Given the description of an element on the screen output the (x, y) to click on. 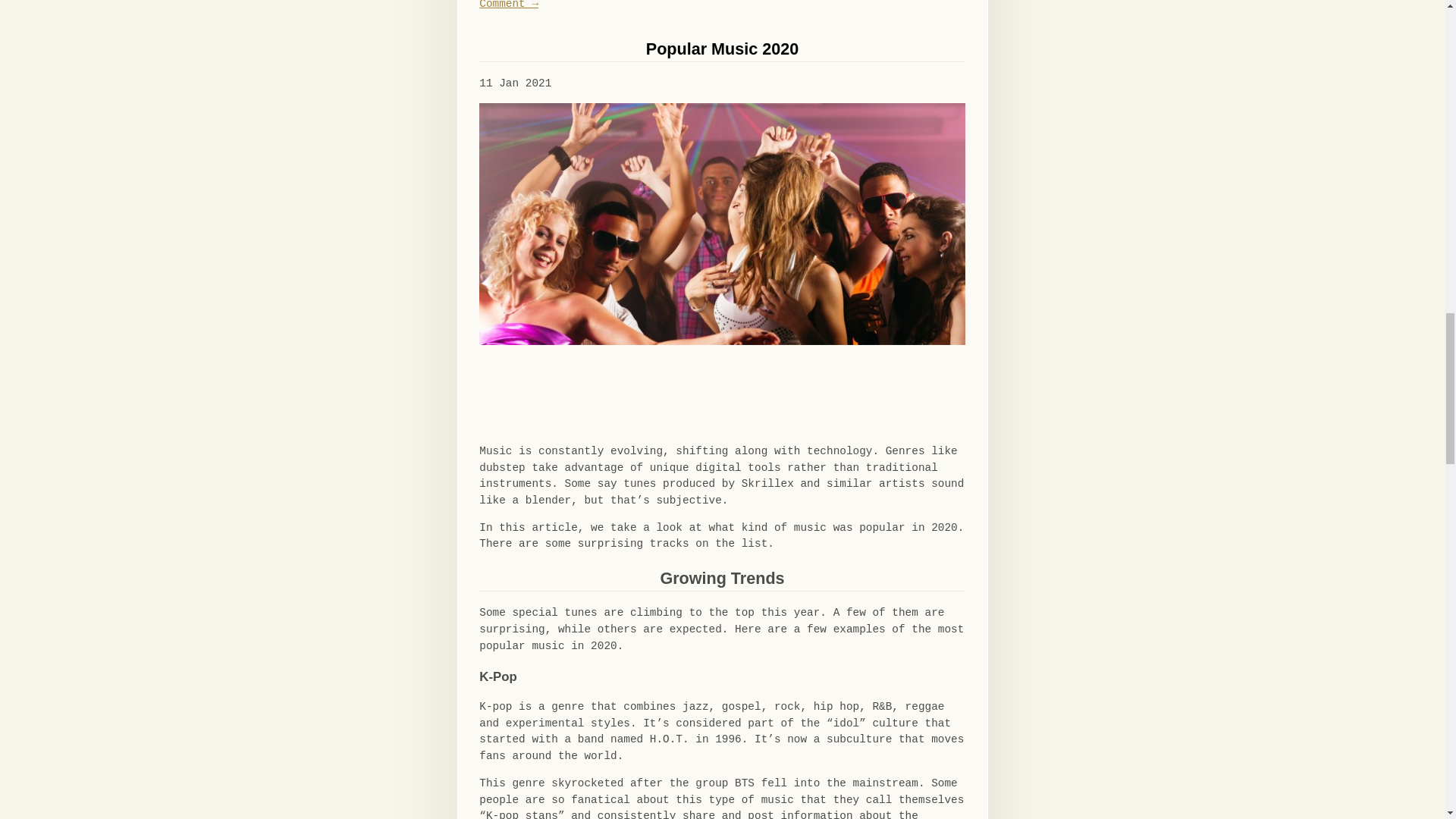
Popular Music 2020 (721, 48)
